Given the description of an element on the screen output the (x, y) to click on. 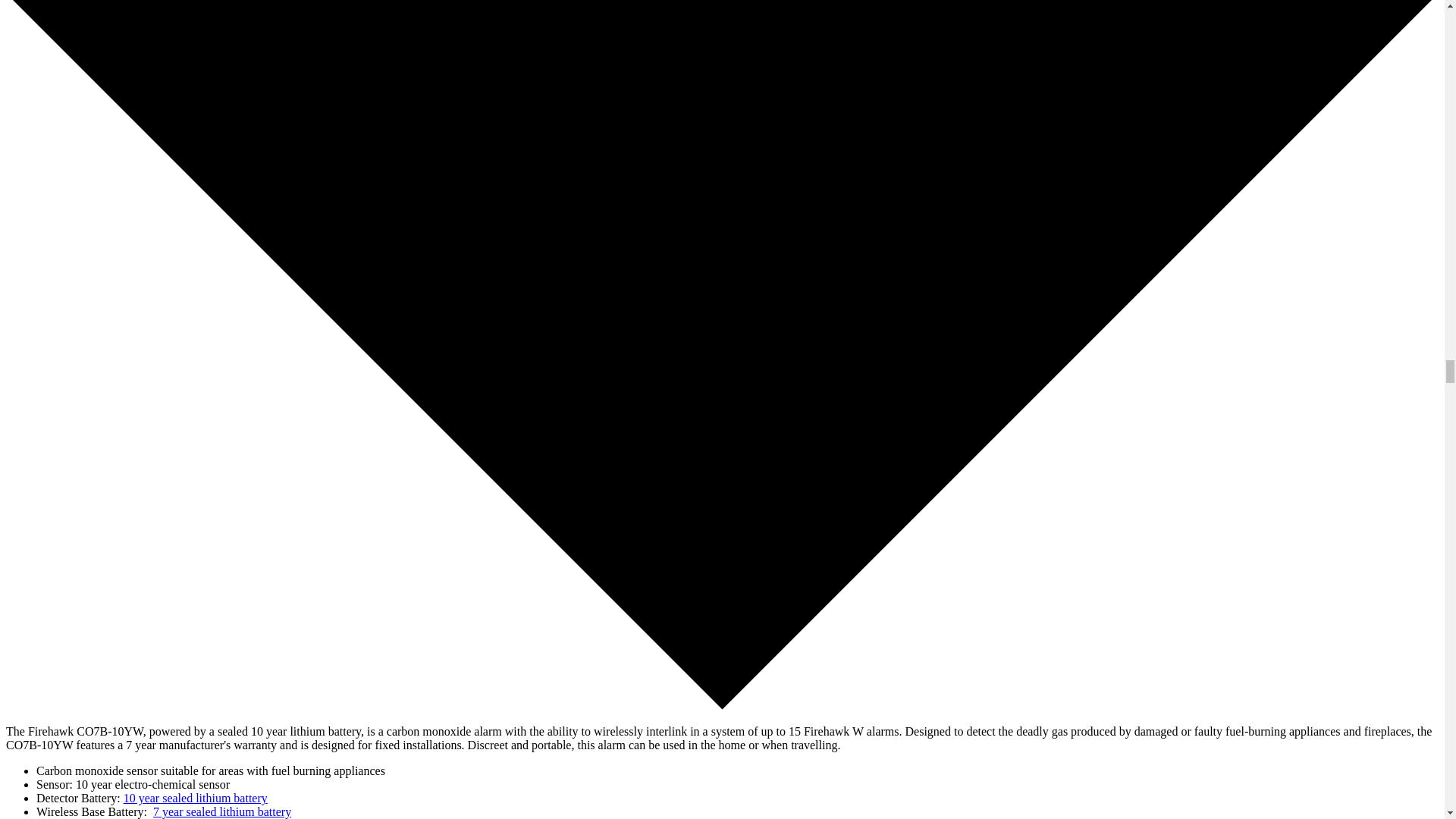
10 year sealed lithium battery (195, 797)
7 year sealed lithium battery (221, 811)
